Given the description of an element on the screen output the (x, y) to click on. 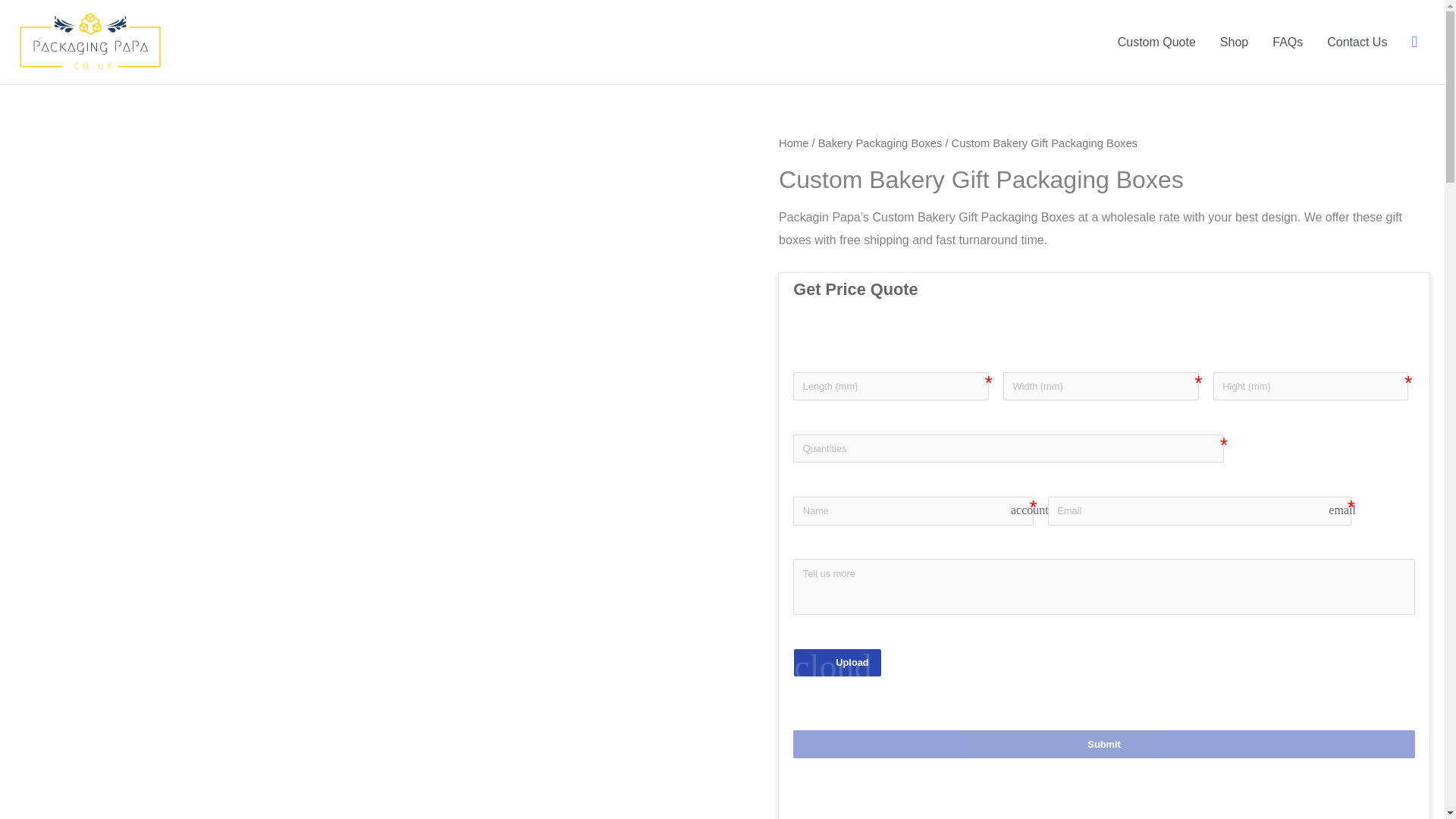
Submit (1104, 744)
Home (793, 143)
Bakery Packaging Boxes (880, 143)
Custom Quote (1156, 42)
Shop (1234, 42)
Contact Us (1356, 42)
FAQs (1287, 42)
